Given the description of an element on the screen output the (x, y) to click on. 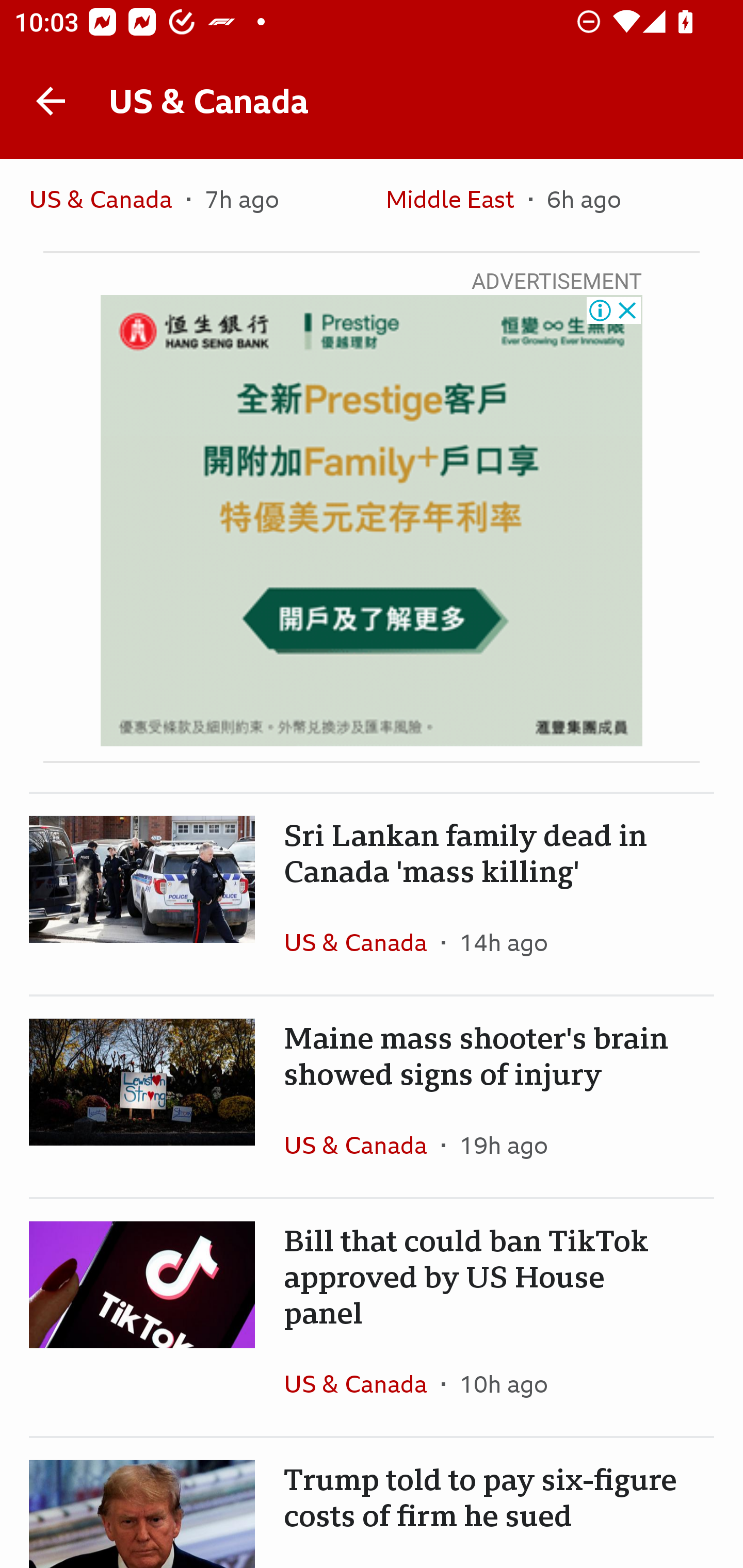
Back (50, 101)
US & Canada In the section US & Canada (107, 204)
Middle East In the section Middle East (457, 204)
Advertisement (371, 520)
US & Canada In the section US & Canada (362, 942)
US & Canada In the section US & Canada (362, 1144)
US & Canada In the section US & Canada (362, 1383)
